Given the description of an element on the screen output the (x, y) to click on. 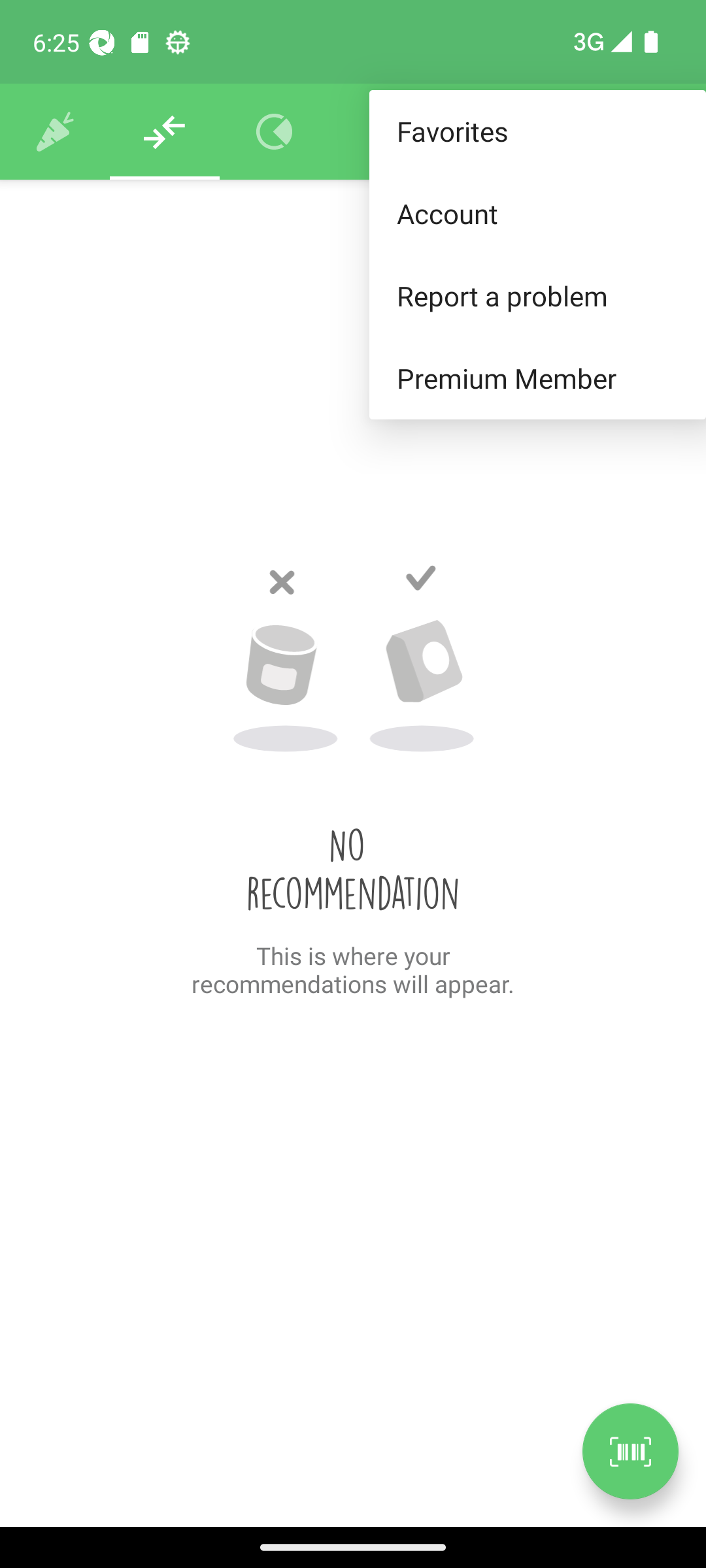
Favorites (537, 131)
Account (537, 213)
Report a problem (537, 295)
Premium Member (537, 378)
